Given the description of an element on the screen output the (x, y) to click on. 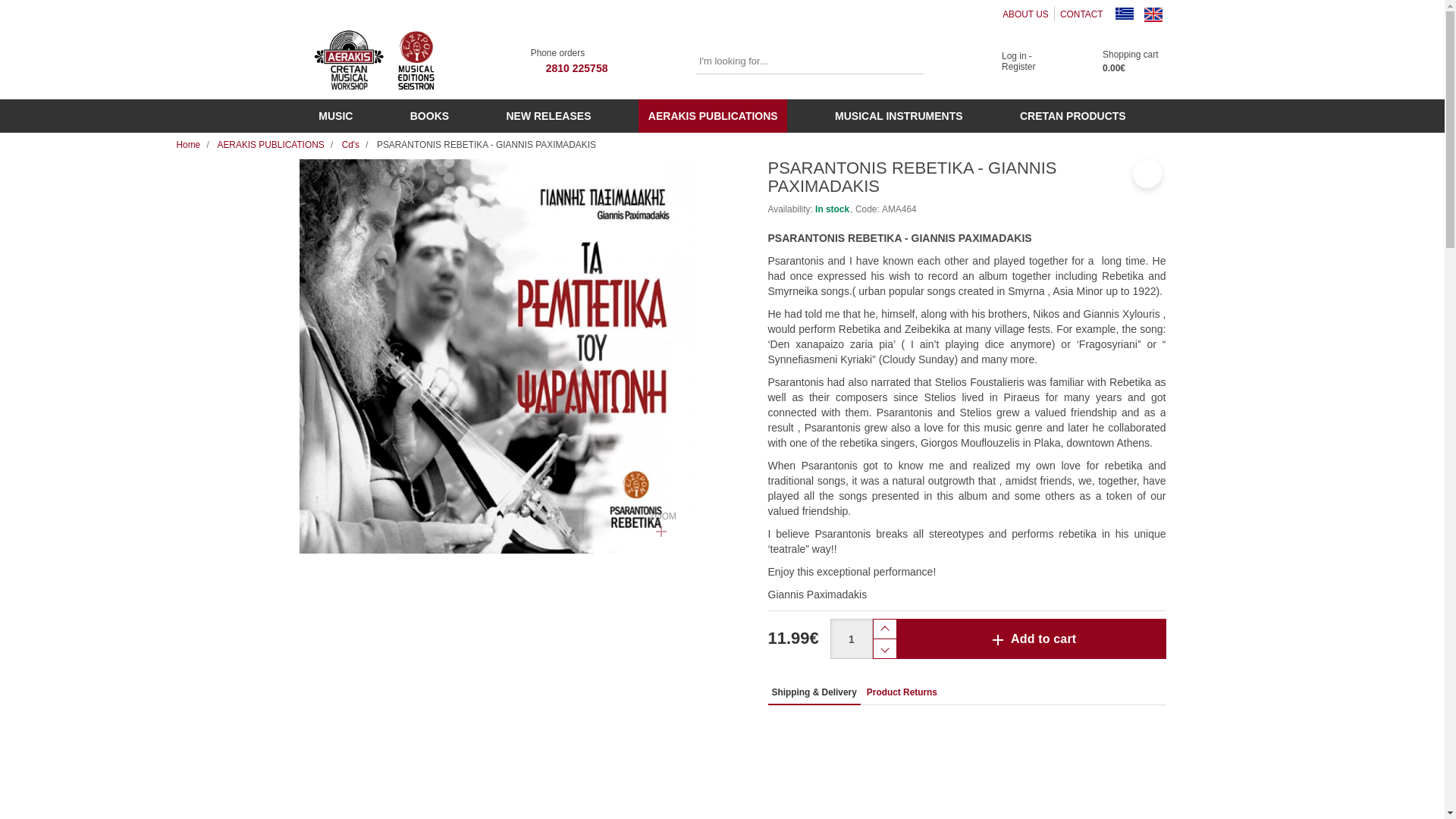
Log in - Register (1013, 61)
1 (585, 60)
English (850, 639)
CONTACT (1151, 14)
SEARCH (1081, 13)
SEARCH (910, 61)
Greek (910, 61)
MUSIC (1124, 14)
ABOUT US (335, 115)
